Given the description of an element on the screen output the (x, y) to click on. 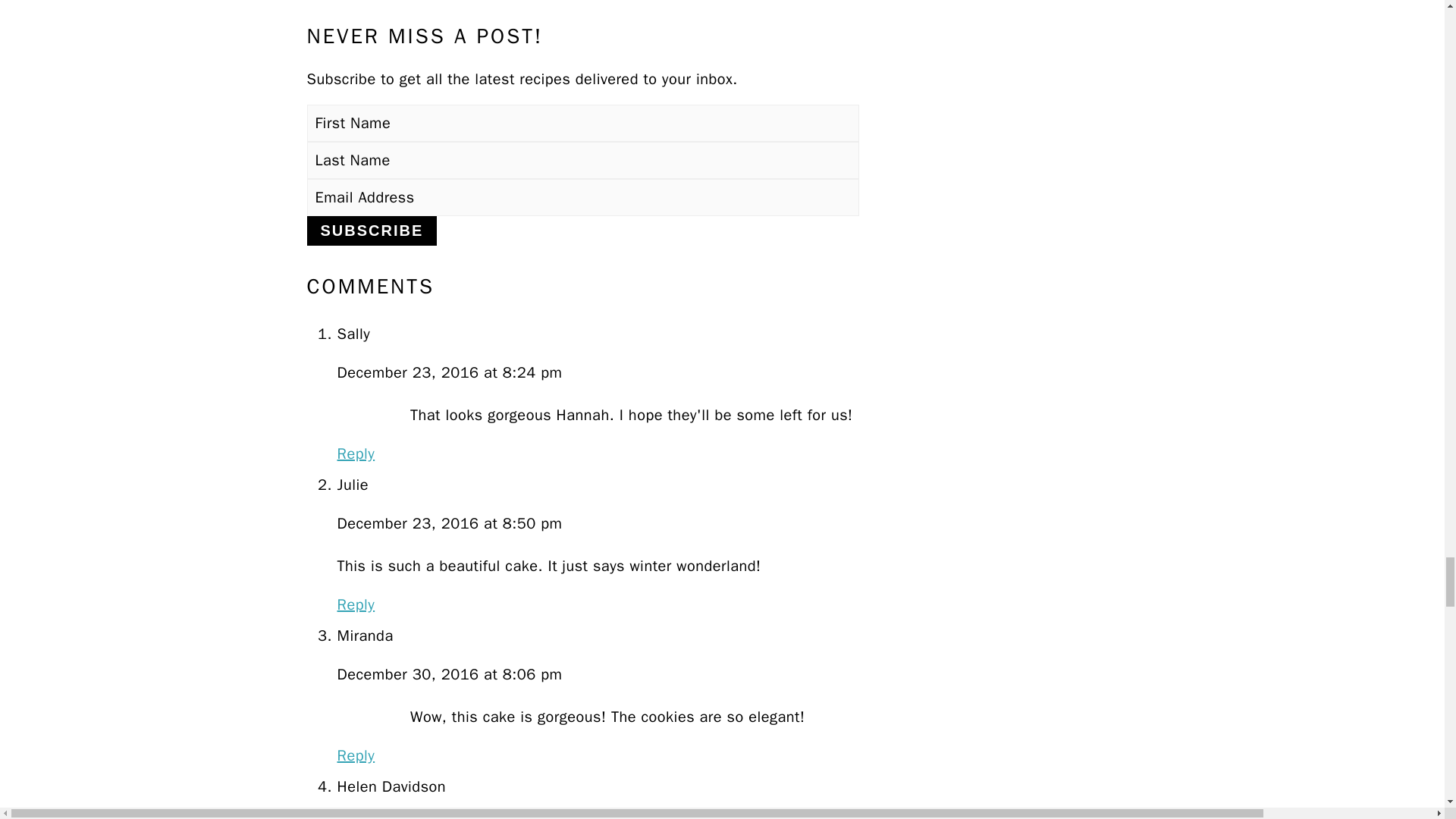
Subscribe (370, 230)
